Given the description of an element on the screen output the (x, y) to click on. 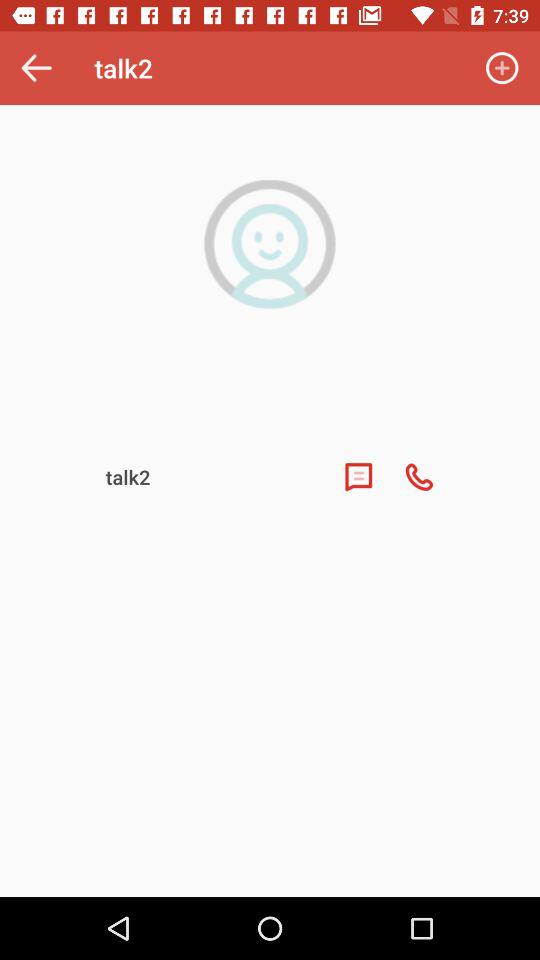
open the icon at the top right corner (502, 67)
